Given the description of an element on the screen output the (x, y) to click on. 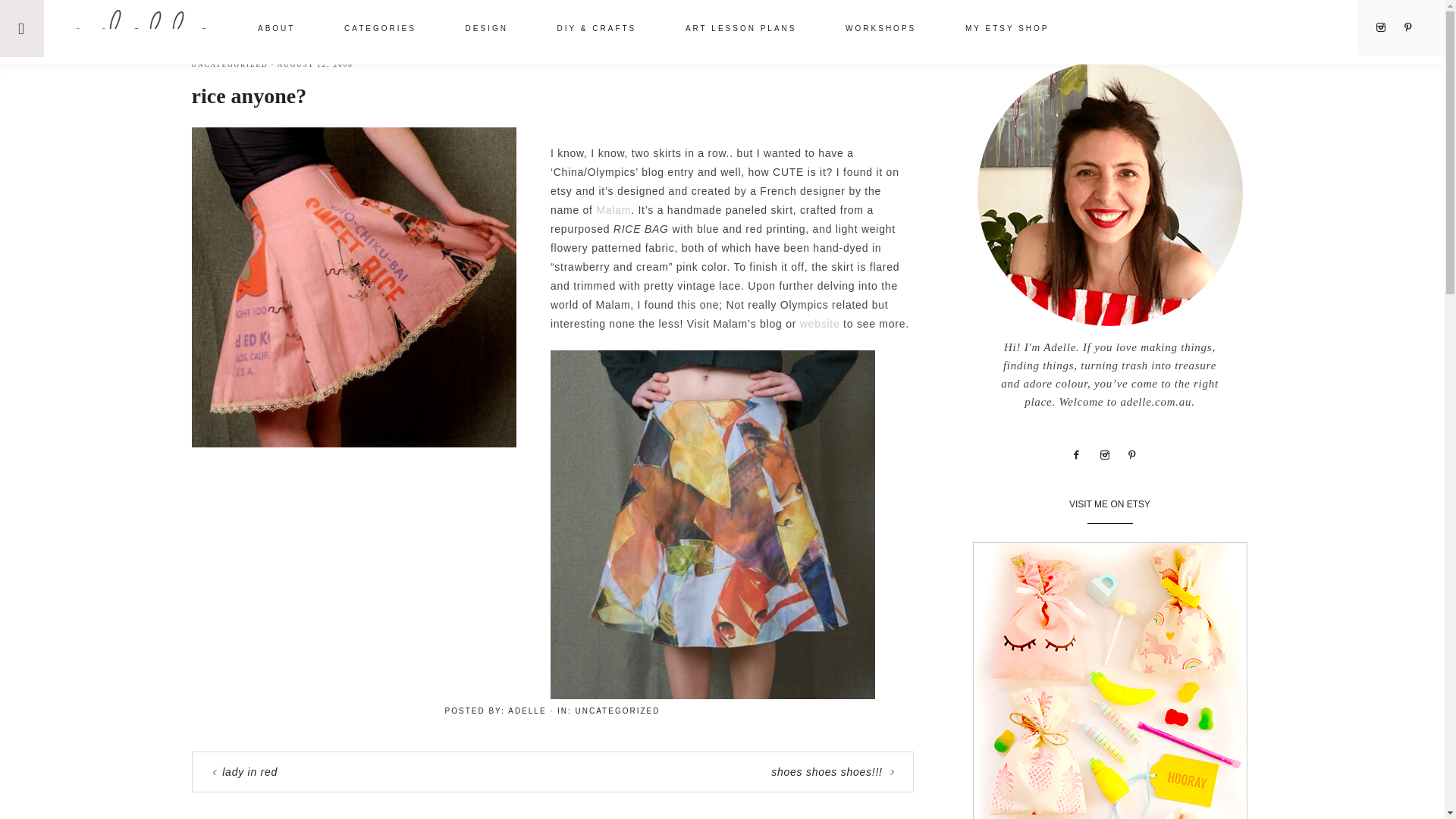
shoes shoes shoes!!! (826, 771)
UNCATEGORIZED (228, 63)
ADELLE (141, 27)
DESIGN (486, 29)
lady in red (250, 771)
Instagram (1109, 453)
MY ETSY SHOP (1006, 29)
website (819, 323)
mad-patch-skirt (712, 524)
rice-skirt (352, 287)
